Given the description of an element on the screen output the (x, y) to click on. 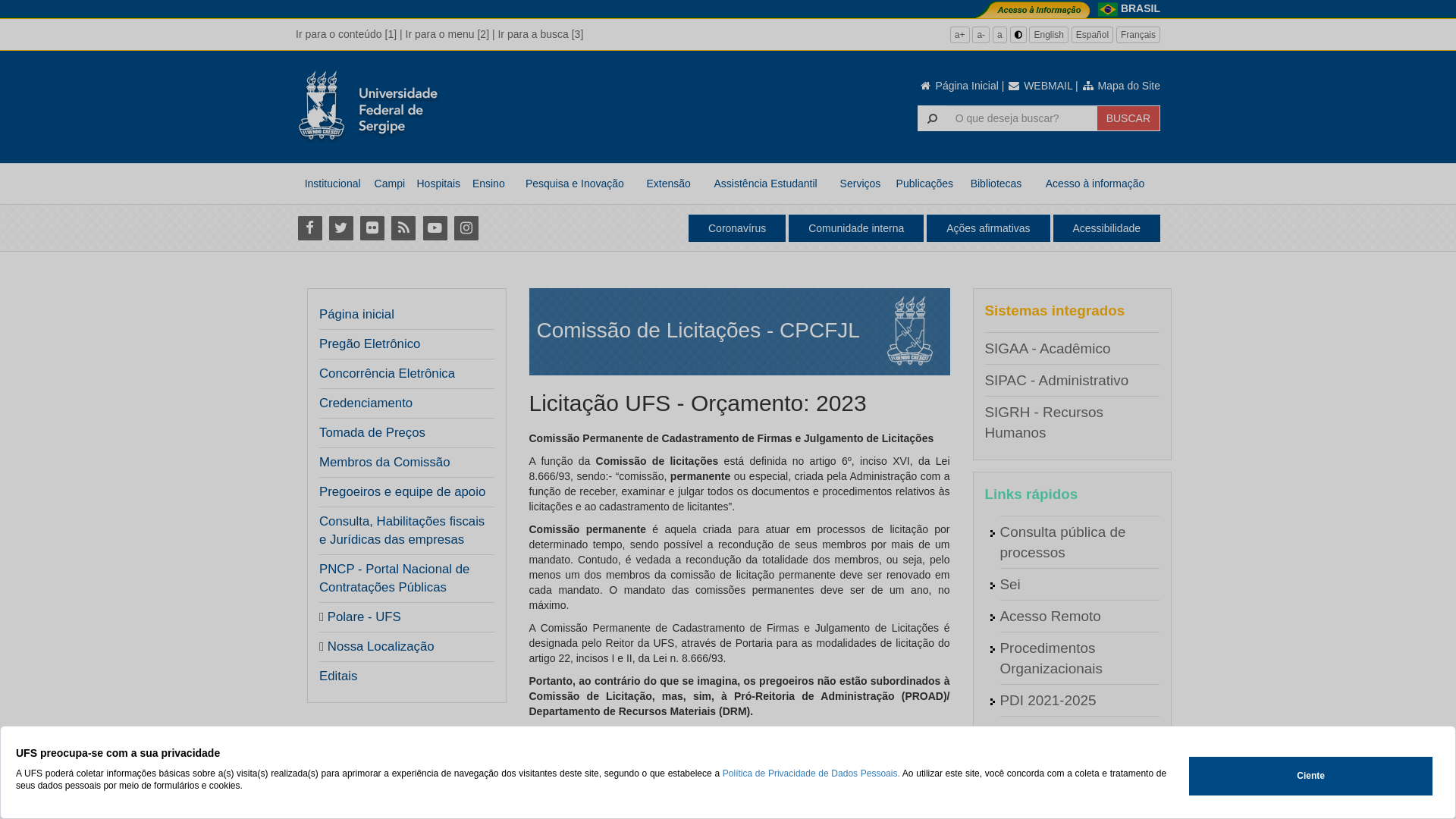
Editais Element type: text (338, 676)
Comunidade interna Element type: text (855, 227)
a- Element type: text (980, 34)
Hospitais Element type: text (438, 183)
SIPAC - Administrativo Element type: text (1056, 380)
Sei Element type: text (1009, 584)
Ir para o menu [2] Element type: text (447, 34)
Procedimentos Organizacionais Element type: text (1050, 658)
Ir para a busca [3] Element type: text (540, 34)
Twitter Element type: text (340, 227)
Flickr Element type: text (371, 227)
BUSCAR Element type: text (1128, 118)
Credenciamento Element type: text (365, 403)
WEBMAIL Element type: text (1039, 85)
Agenda do Reitor Element type: text (1054, 732)
Facebook Element type: text (309, 227)
English Element type: text (1048, 34)
Acessibilidade Element type: text (1106, 227)
Agenda do Vice-Reitor Element type: text (1071, 763)
RSS Element type: text (403, 227)
a+ Element type: text (959, 34)
a Element type: text (999, 34)
PDI 2021-2025 Element type: text (1047, 700)
Ensino Element type: text (488, 183)
Youtube Element type: text (434, 227)
Instagram Element type: text (465, 227)
Mapa do Site Element type: text (1120, 85)
BRASIL Element type: text (1140, 8)
Pregoeiros e equipe de apoio Element type: text (402, 491)
Bibliotecas Element type: text (995, 183)
Campi Element type: text (389, 183)
SIGRH - Recursos Humanos Element type: text (1043, 422)
Institucional Element type: text (332, 183)
Acesso Remoto Element type: text (1049, 616)
Telefones Element type: text (1029, 795)
